Given the description of an element on the screen output the (x, y) to click on. 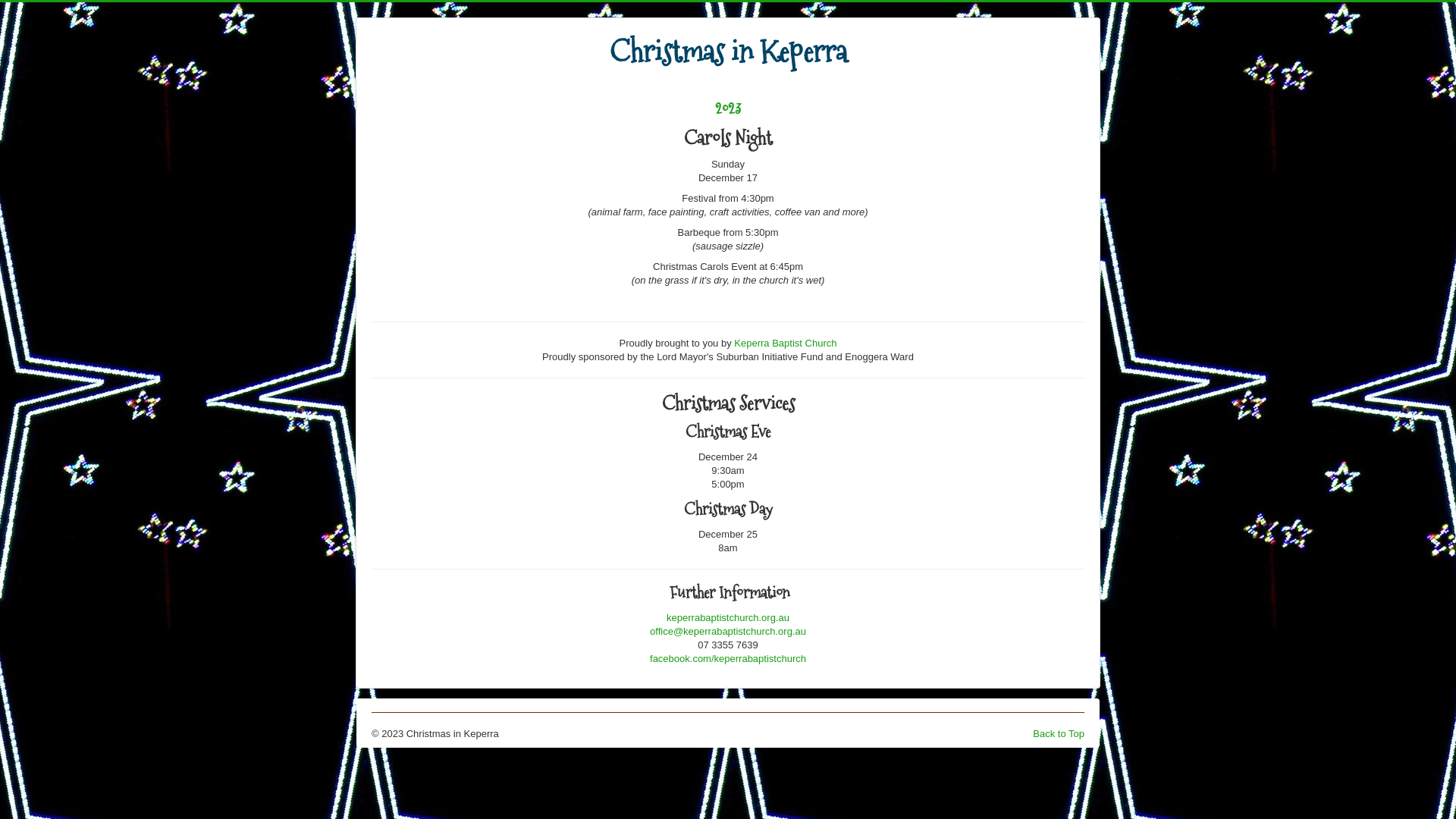
facebook.com/keperrabaptistchurch Element type: text (727, 658)
2023 Element type: text (727, 108)
Christmas in Keperra Element type: text (728, 58)
Keperra Baptist Church Element type: text (785, 342)
Back to Top Element type: text (1058, 733)
office@keperrabaptistchurch.org.au Element type: text (727, 631)
keperrabaptistchurch.org.au Element type: text (727, 617)
